Given the description of an element on the screen output the (x, y) to click on. 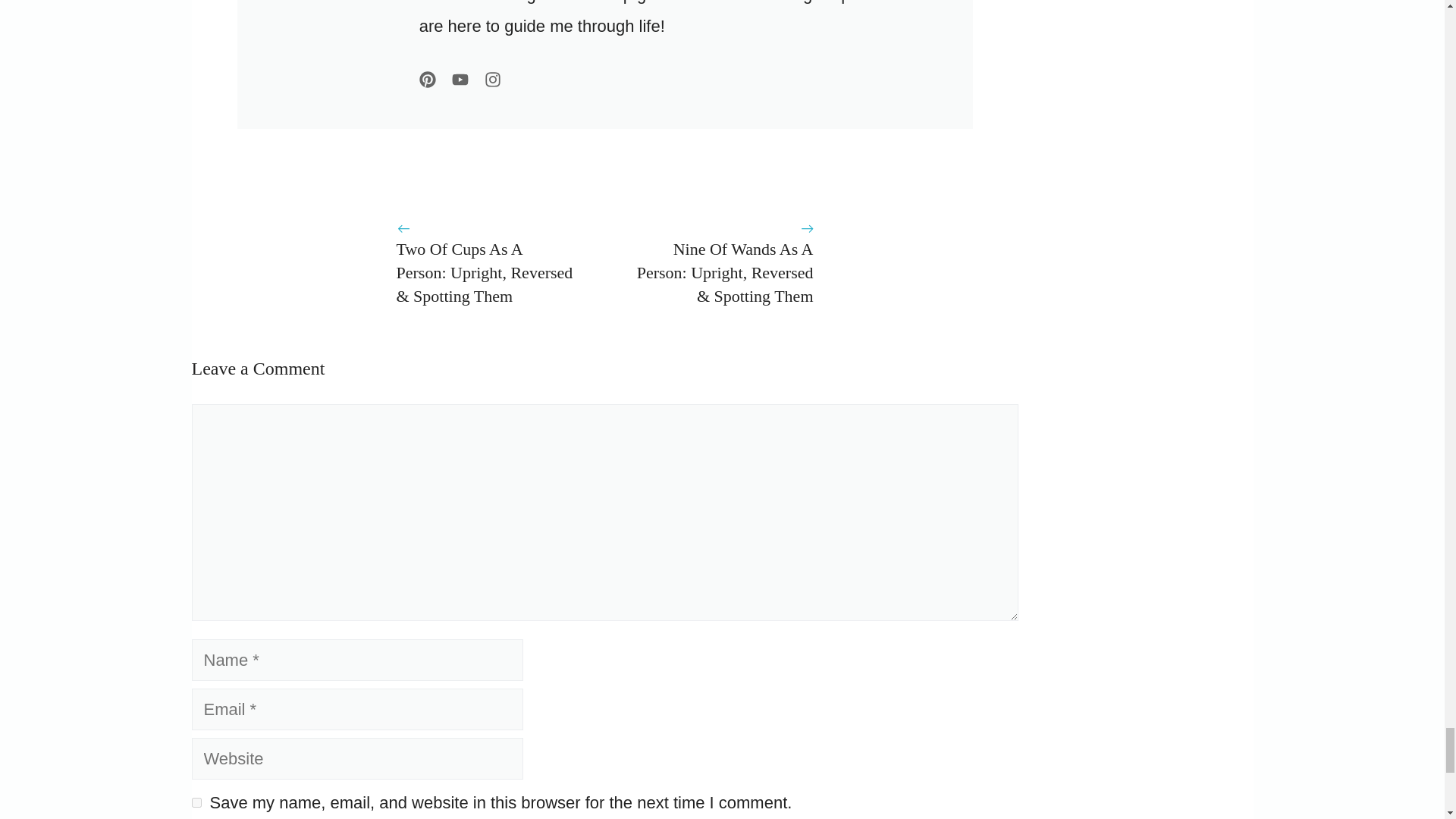
yes (195, 802)
